Given the description of an element on the screen output the (x, y) to click on. 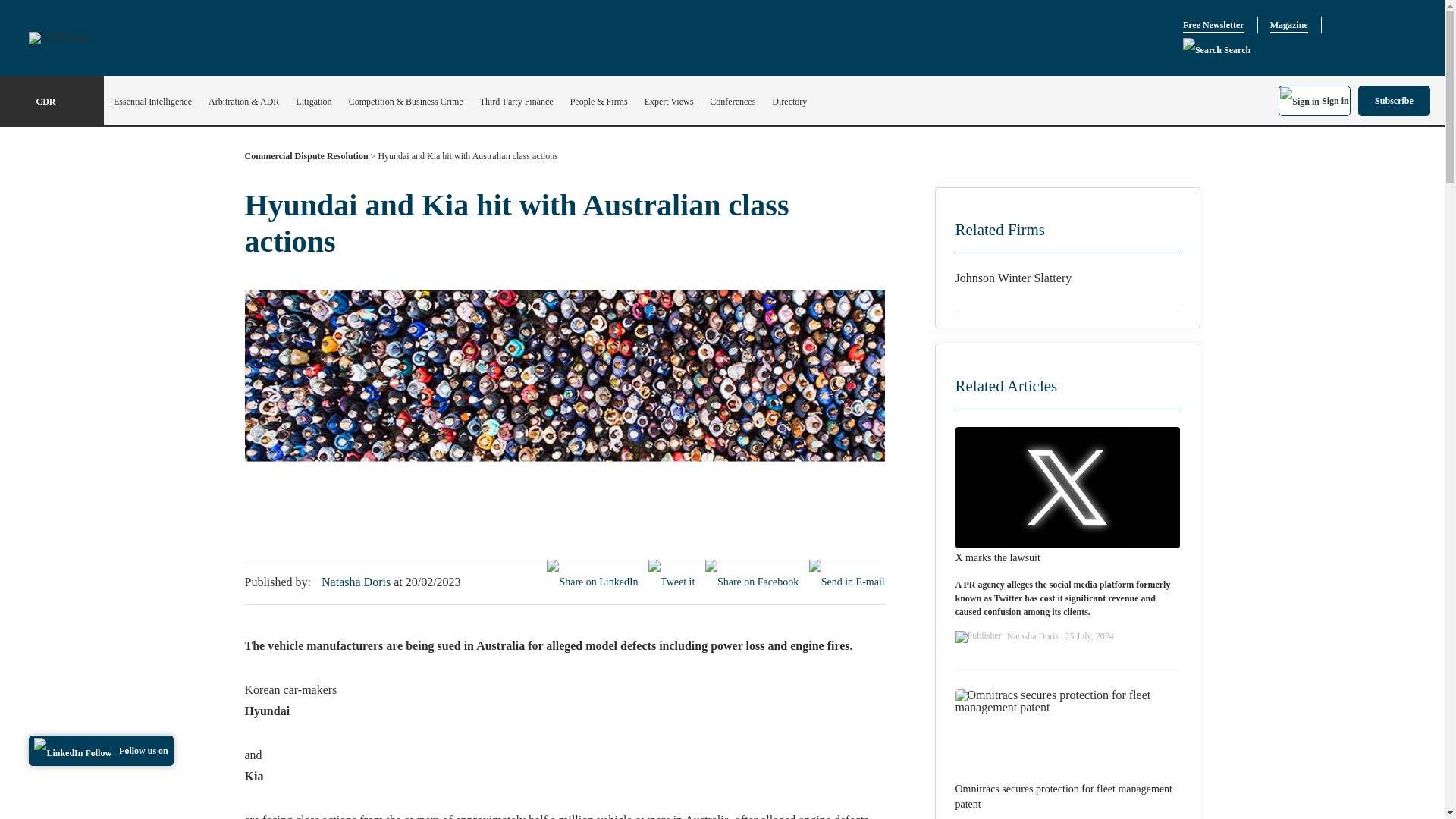
Subscribe (1393, 100)
Natasha Doris (357, 581)
Free Newsletter (1213, 25)
Omnitracs secures protection for fleet management patent (1067, 797)
Directory (788, 101)
Conferences (732, 101)
Magazine (1288, 25)
Third-Party Finance (516, 101)
Expert Views (669, 101)
Johnson Winter Slattery (1067, 277)
CDR (52, 101)
Commercial Dispute Resolution (306, 159)
Essential Intelligence (152, 101)
X marks the lawsuit (998, 557)
Sign in (1314, 100)
